Given the description of an element on the screen output the (x, y) to click on. 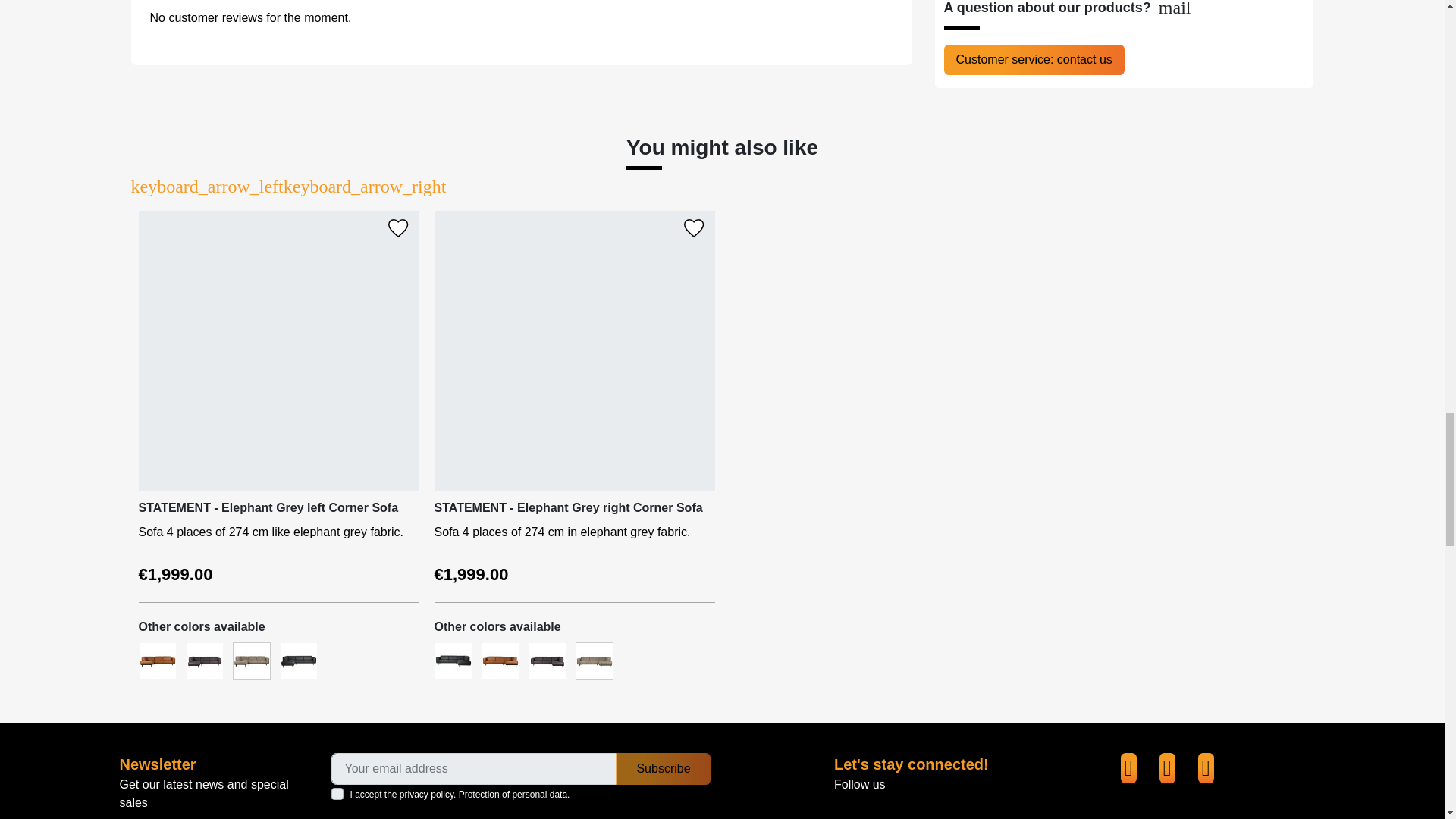
Subscribe (662, 768)
